Given the description of an element on the screen output the (x, y) to click on. 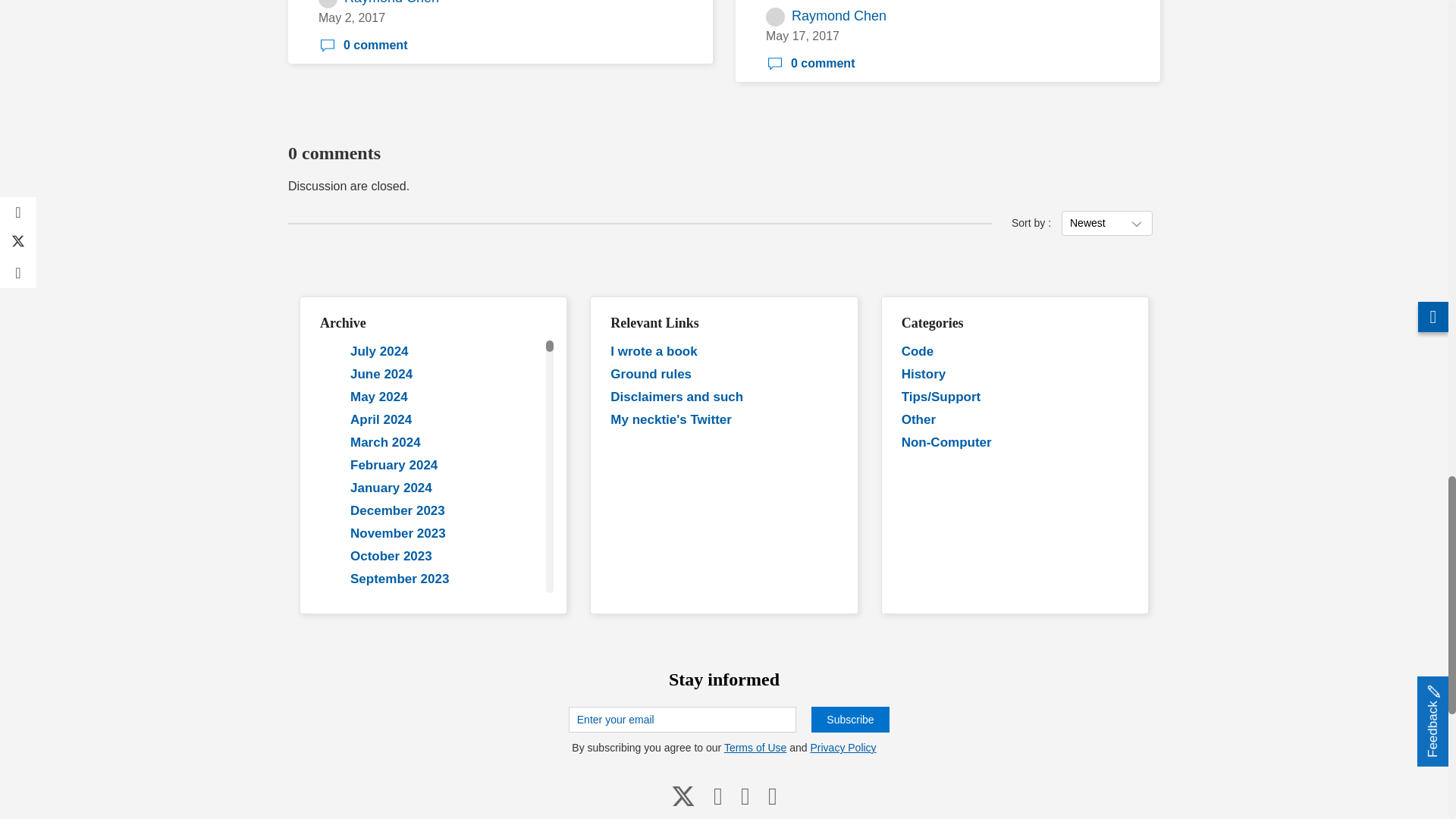
RSS Feed (772, 794)
Subscribe (849, 719)
GitHub (745, 794)
youtube (718, 794)
twitter (683, 794)
